Given the description of an element on the screen output the (x, y) to click on. 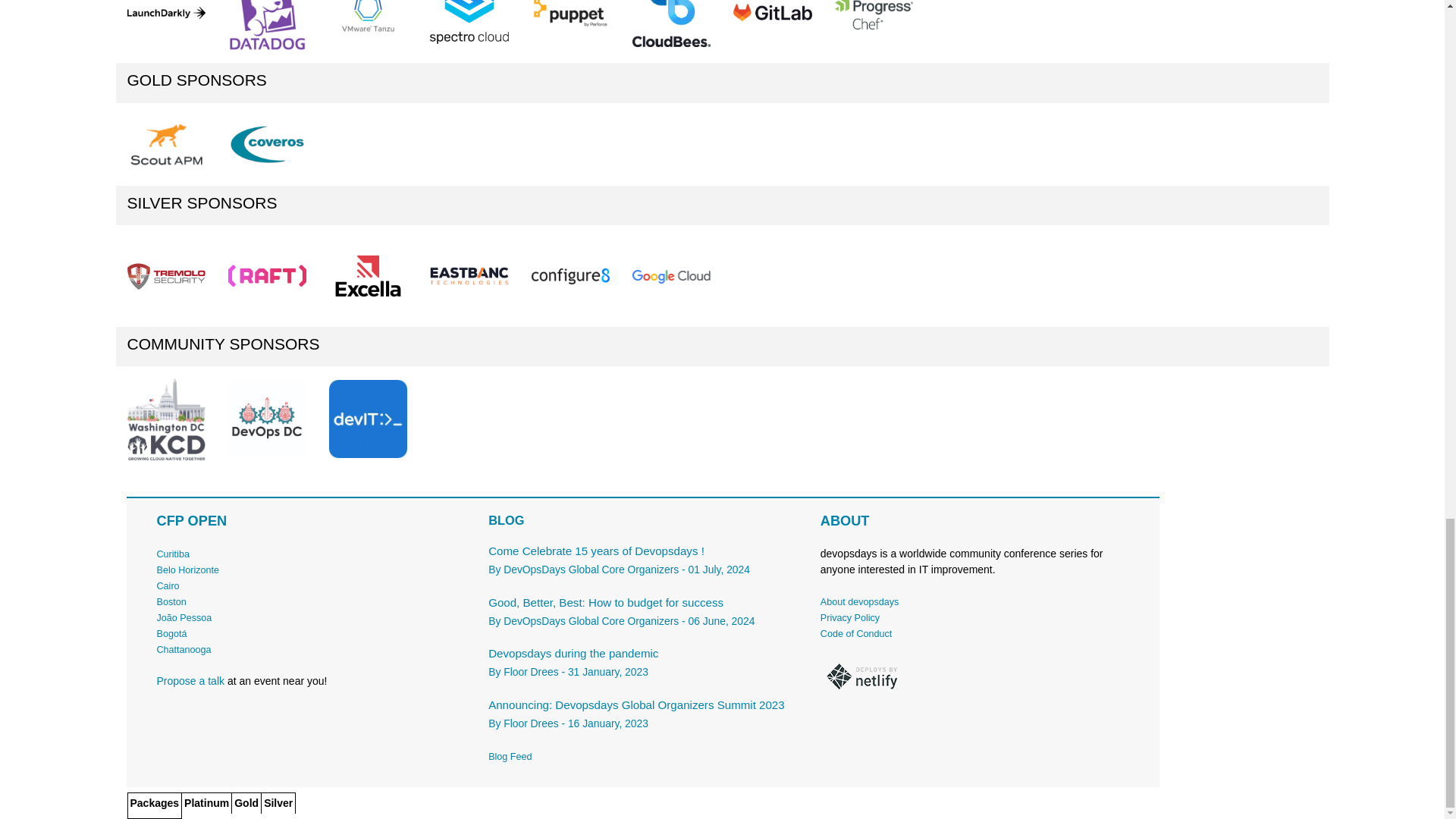
coveros (266, 144)
Puppet by Perforce (570, 15)
GitLab (771, 25)
DevOpsDC Meetup (266, 418)
spectrocloud (468, 22)
Scout (166, 144)
eastbanc (468, 275)
VMware Tanzu (368, 25)
excella (368, 275)
raft (266, 275)
LaunchDarkly (166, 12)
cloudbees (670, 23)
Google Cloud (670, 276)
Datadog (266, 25)
configure8 (570, 276)
